Given the description of an element on the screen output the (x, y) to click on. 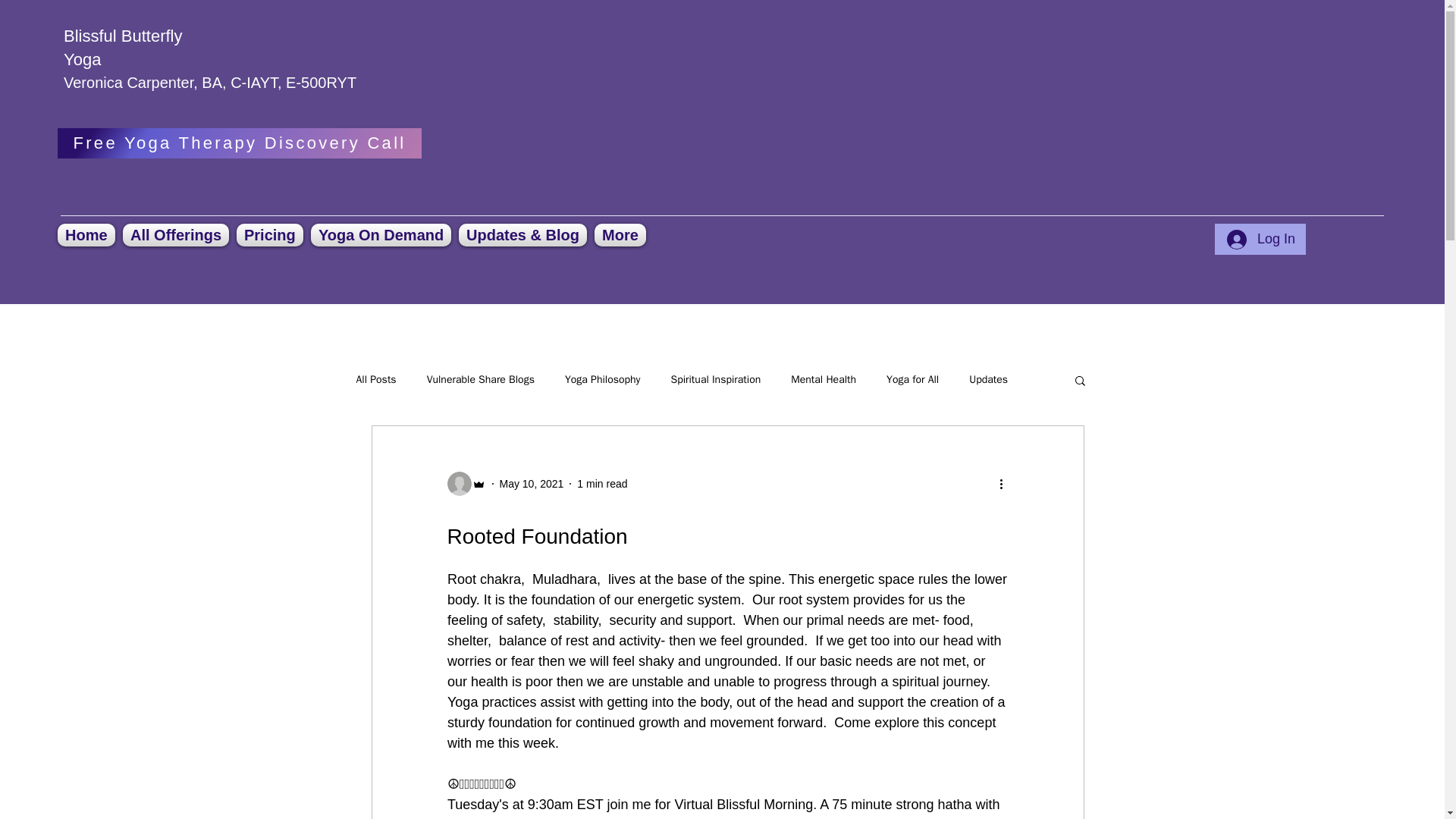
All Posts (376, 379)
Updates (988, 379)
Mental Health (823, 379)
Yoga for All (912, 379)
Free Yoga Therapy Discovery Call (240, 142)
1 min read (601, 483)
Blissful Butterfly Yoga (123, 47)
Vulnerable Share Blogs (480, 379)
Spiritual Inspiration (714, 379)
Home (88, 234)
